Given the description of an element on the screen output the (x, y) to click on. 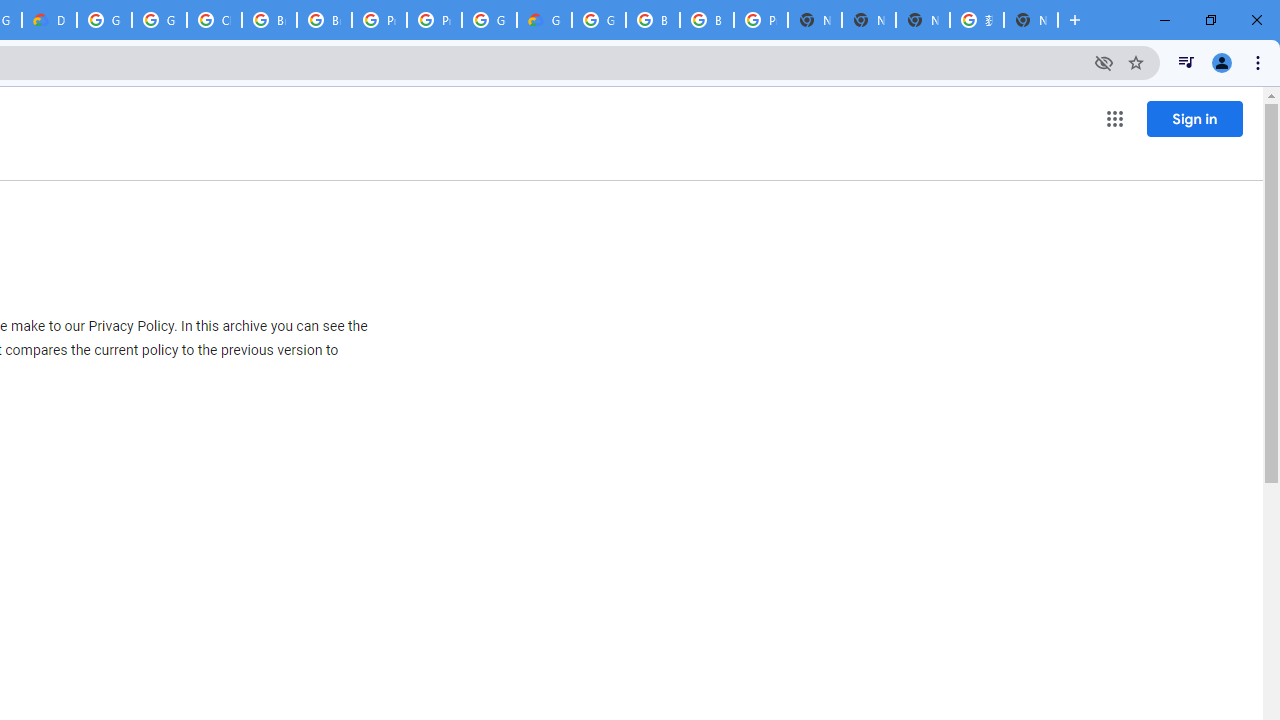
Browse Chrome as a guest - Computer - Google Chrome Help (268, 20)
New Tab (815, 20)
Google Cloud Platform (489, 20)
